Given the description of an element on the screen output the (x, y) to click on. 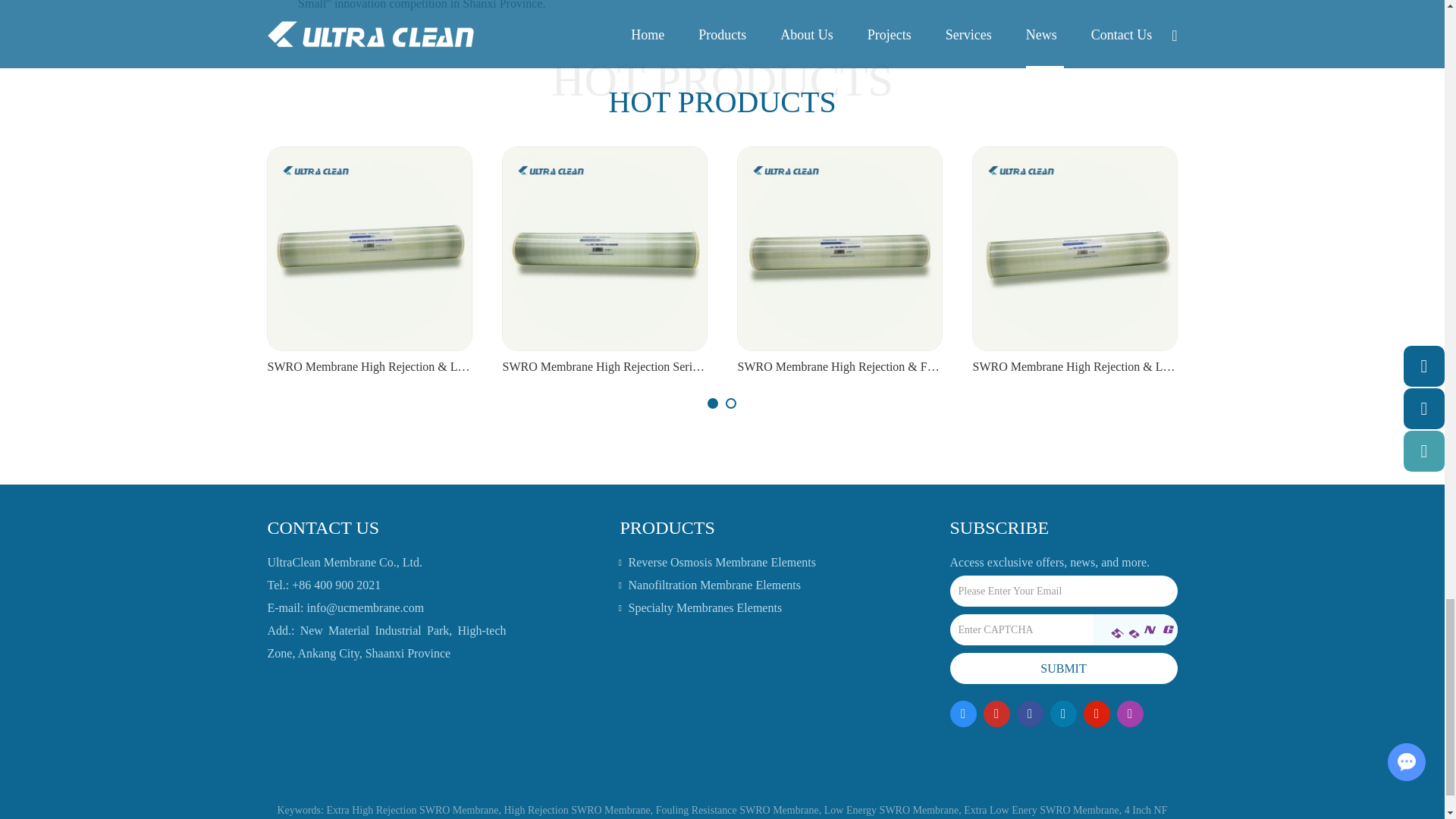
SWRO Membrane High Rejection Series SW-8040-400HR (604, 248)
SWRO Membrane High Rejection Series SW-8040-400HR (604, 367)
Submit (1062, 667)
